Given the description of an element on the screen output the (x, y) to click on. 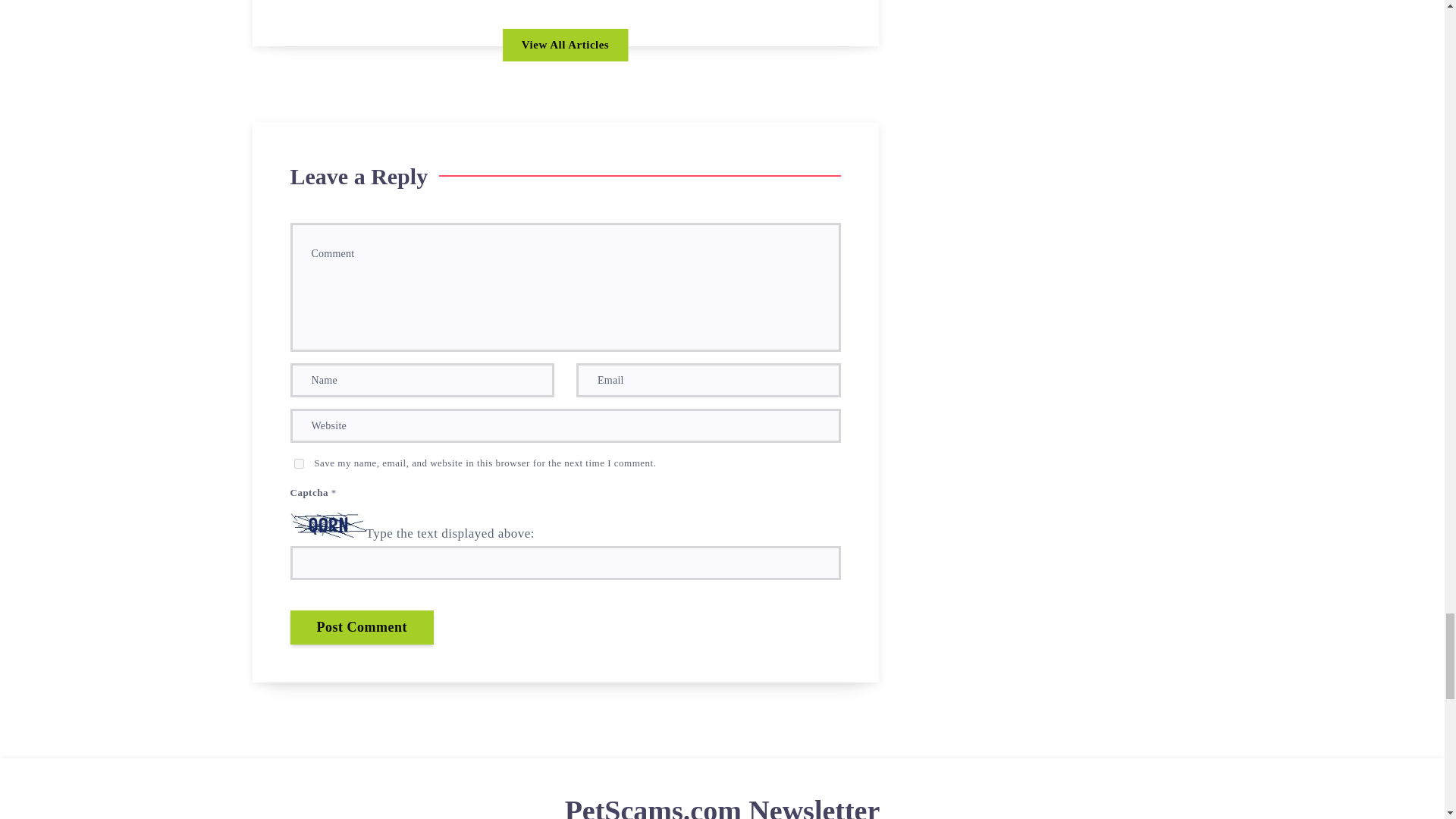
Follow me on Twitter (540, 3)
Post Comment (360, 627)
yes (299, 463)
View All Articles (564, 44)
